Given the description of an element on the screen output the (x, y) to click on. 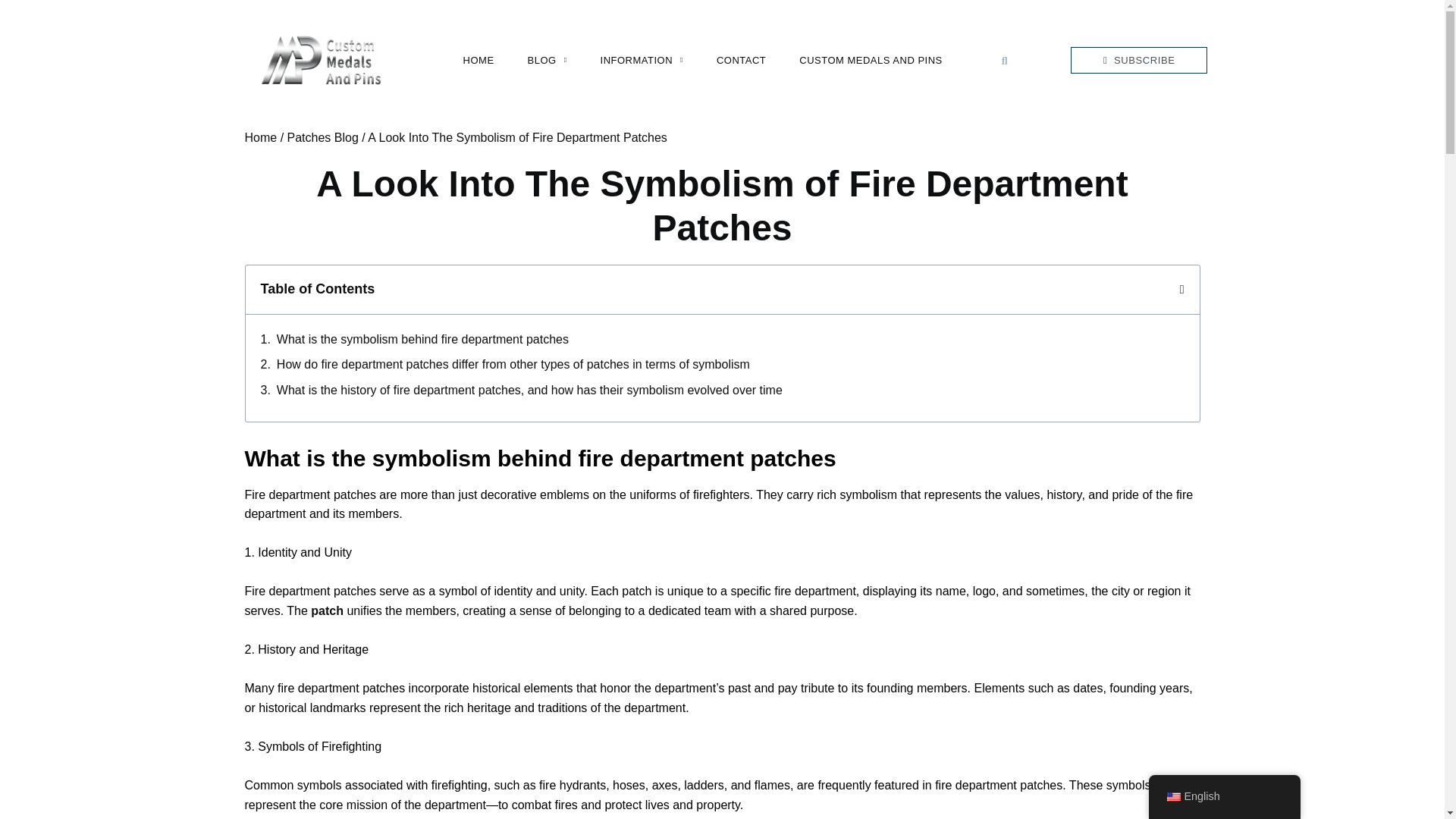
Home (260, 137)
HOME (478, 59)
INFORMATION (641, 59)
English (1172, 796)
Patches Blog (322, 137)
What is the symbolism behind fire department patches (422, 339)
SUBSCRIBE (1137, 59)
patch (327, 610)
CONTACT (740, 59)
